Given the description of an element on the screen output the (x, y) to click on. 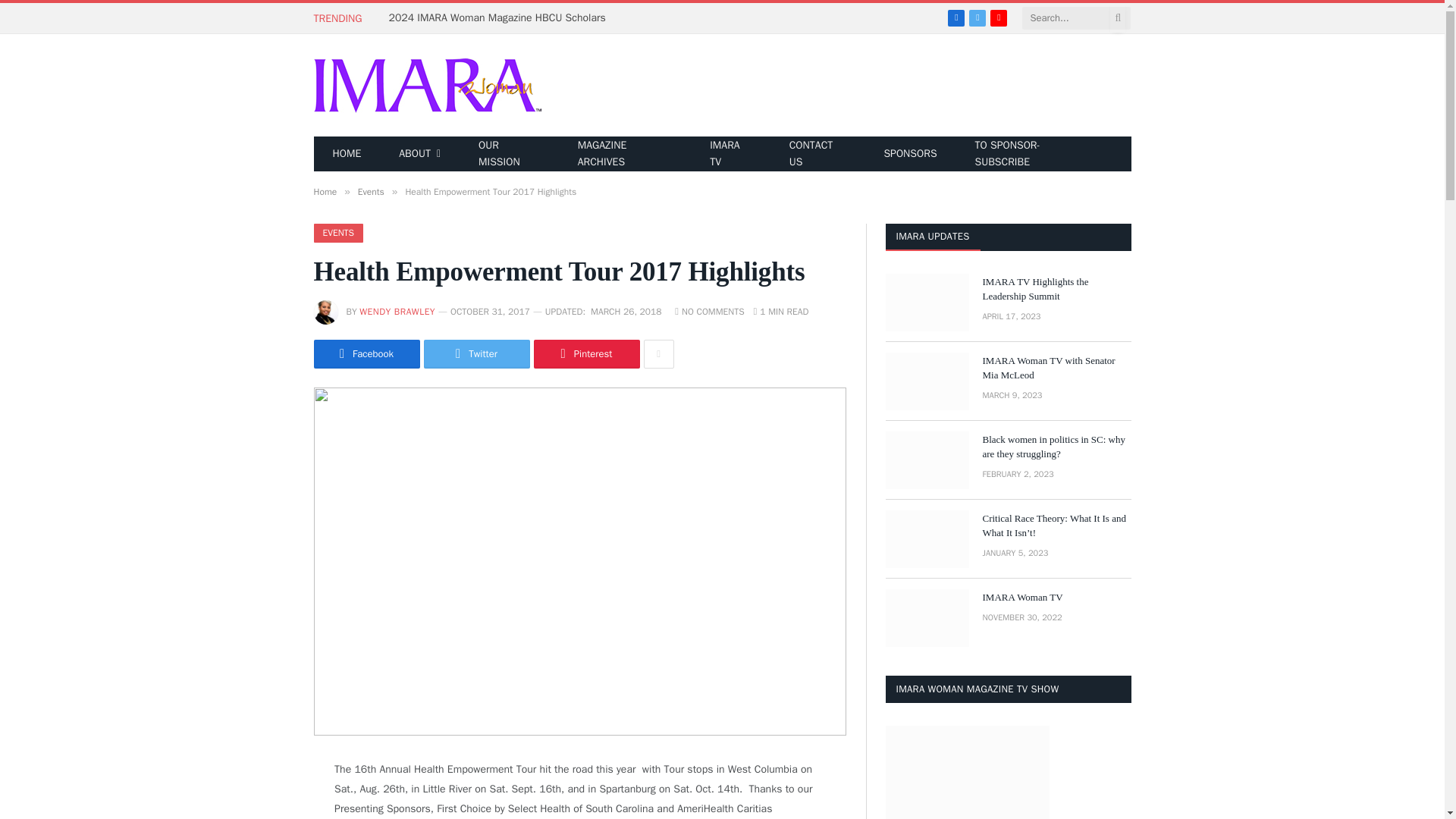
CONTACT US (817, 153)
Share on Pinterest (587, 353)
Facebook (955, 17)
Show More Social Sharing (657, 353)
ABOUT (420, 153)
Share on Facebook (367, 353)
2024 IMARA Woman Magazine HBCU Scholars (500, 18)
Posts by Wendy Brawley (397, 311)
IMARA TV (730, 153)
